Given the description of an element on the screen output the (x, y) to click on. 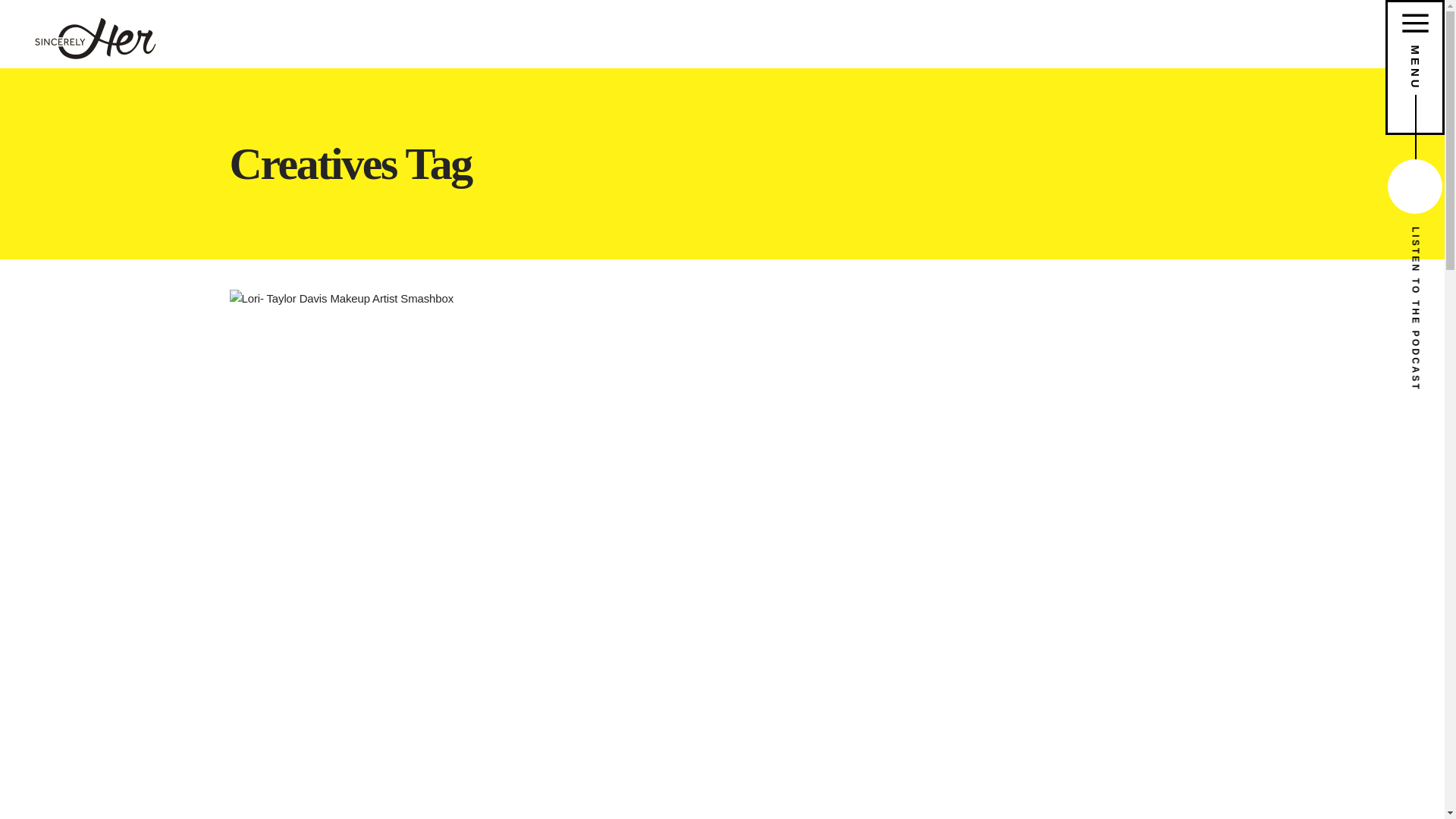
Yes, I want in (933, 501)
Yes, I want free tips (933, 478)
